Given the description of an element on the screen output the (x, y) to click on. 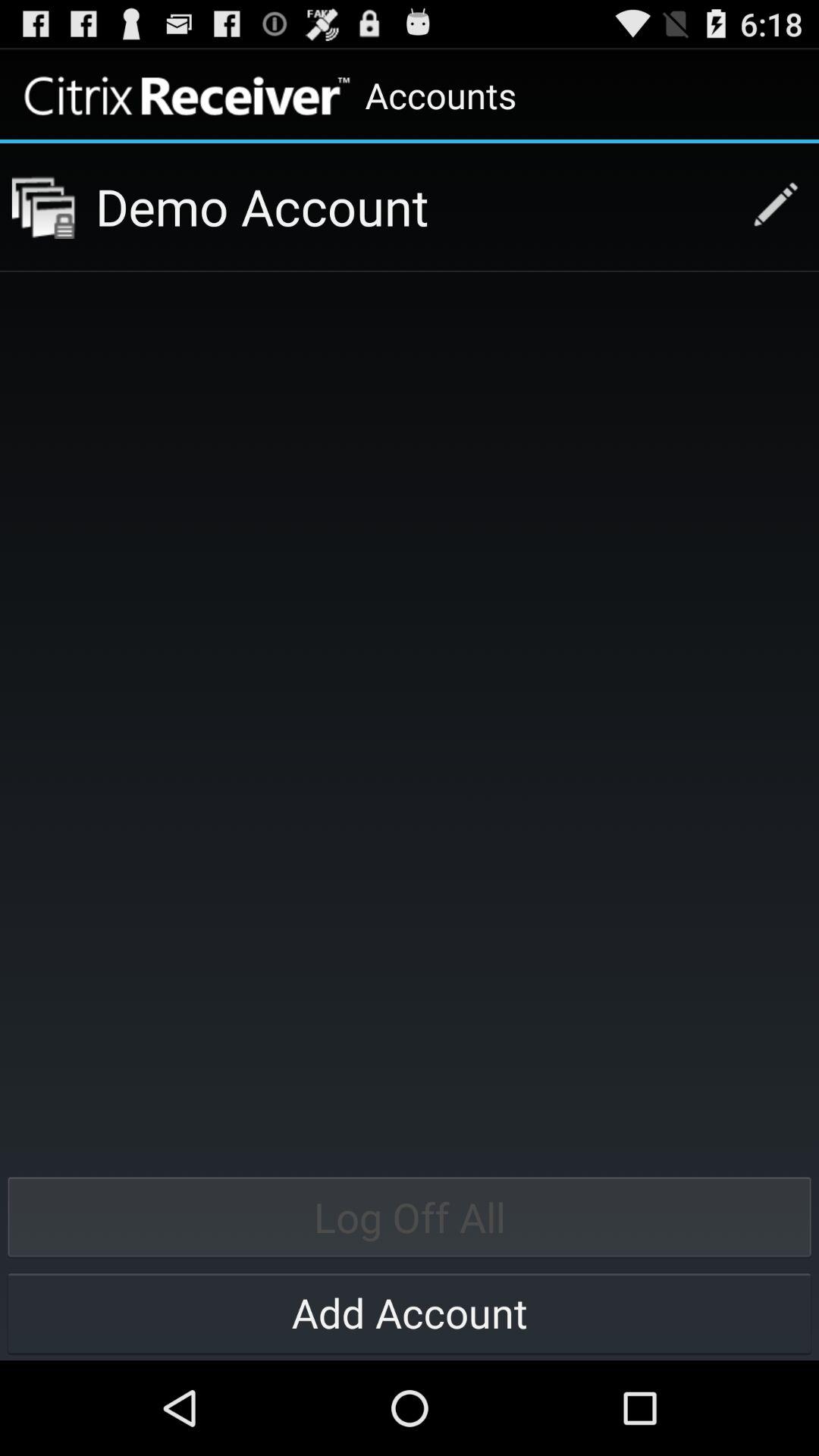
turn off the icon next to the demo account icon (768, 206)
